Given the description of an element on the screen output the (x, y) to click on. 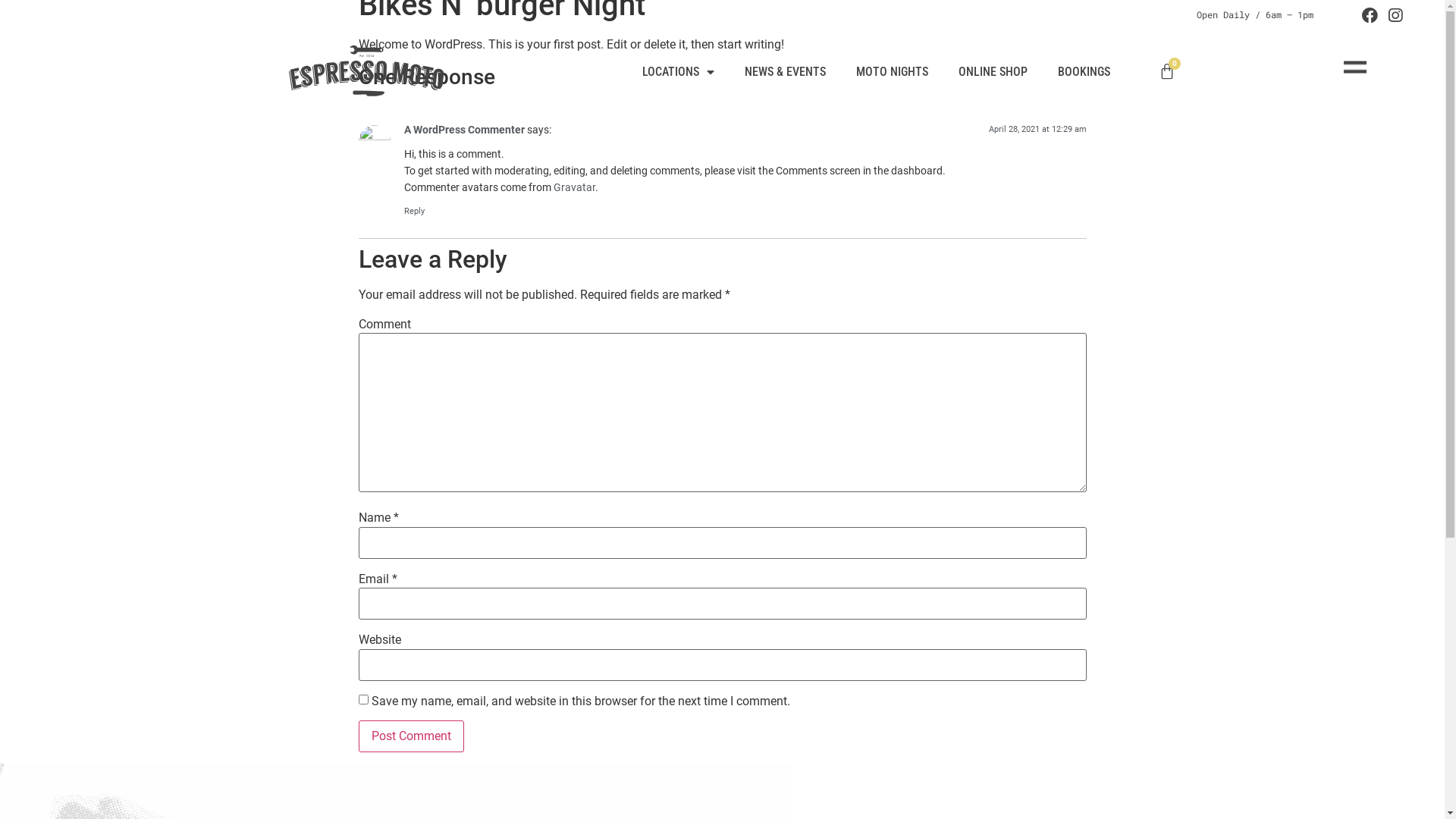
April 28, 2021 at 12:29 am Element type: text (1037, 129)
ONLINE SHOP Element type: text (992, 71)
Reply Element type: text (413, 211)
LOCATIONS Element type: text (678, 71)
MOTO NIGHTS Element type: text (891, 71)
Post Comment Element type: text (410, 736)
A WordPress Commenter Element type: text (463, 129)
BOOKINGS Element type: text (1083, 71)
NEWS & EVENTS Element type: text (784, 71)
Gravatar Element type: text (574, 187)
